Given the description of an element on the screen output the (x, y) to click on. 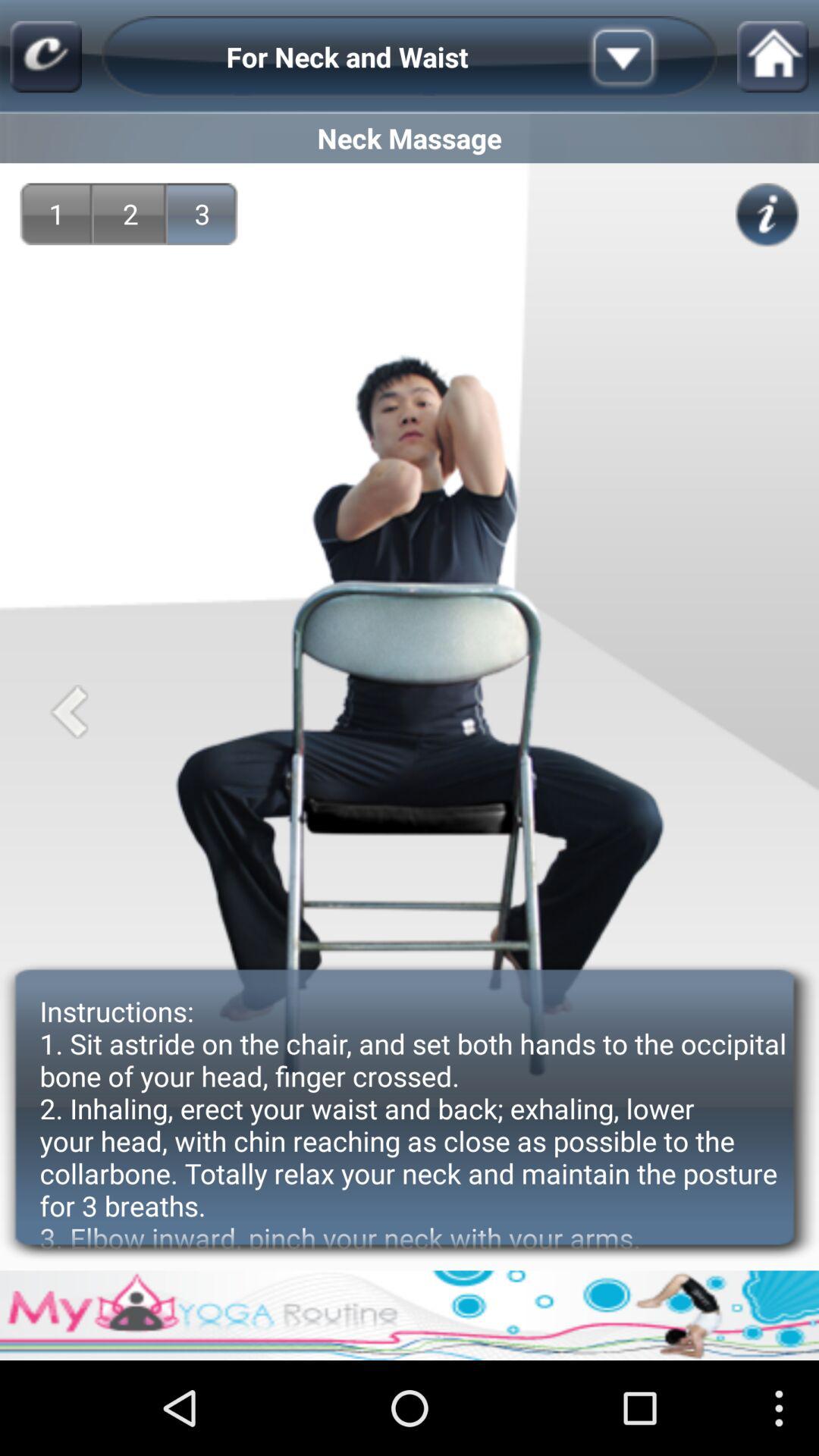
turn on app above the instructions 1 sit icon (68, 711)
